Given the description of an element on the screen output the (x, y) to click on. 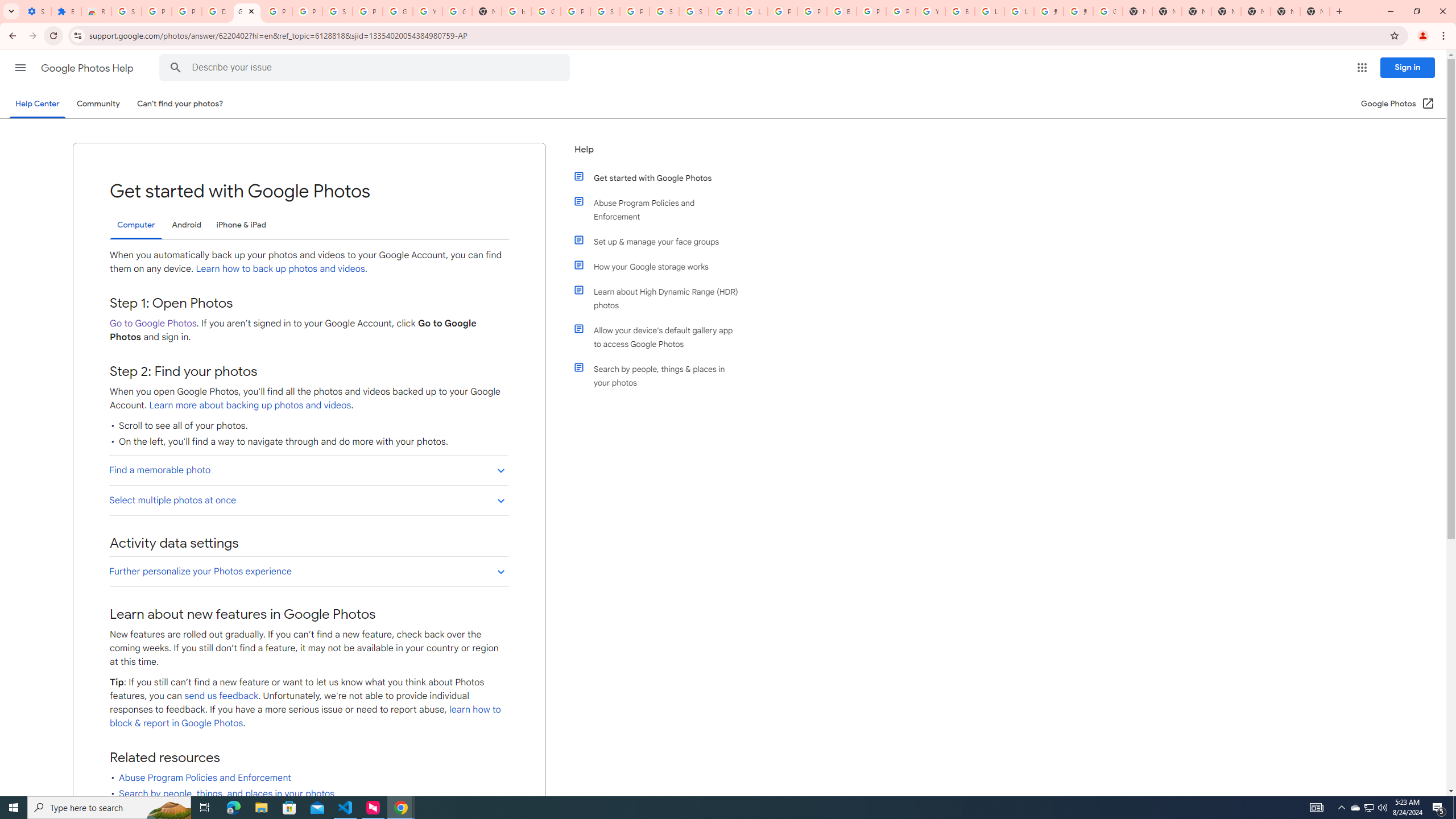
Go to Google Photos (152, 323)
send us feedback (221, 695)
Find a memorable photo (308, 469)
Learn about High Dynamic Range (HDR) photos (661, 298)
learn how to block & report in Google Photos (304, 716)
Get started with Google Photos (661, 177)
Search by people, things, and places in your photos (226, 793)
